Given the description of an element on the screen output the (x, y) to click on. 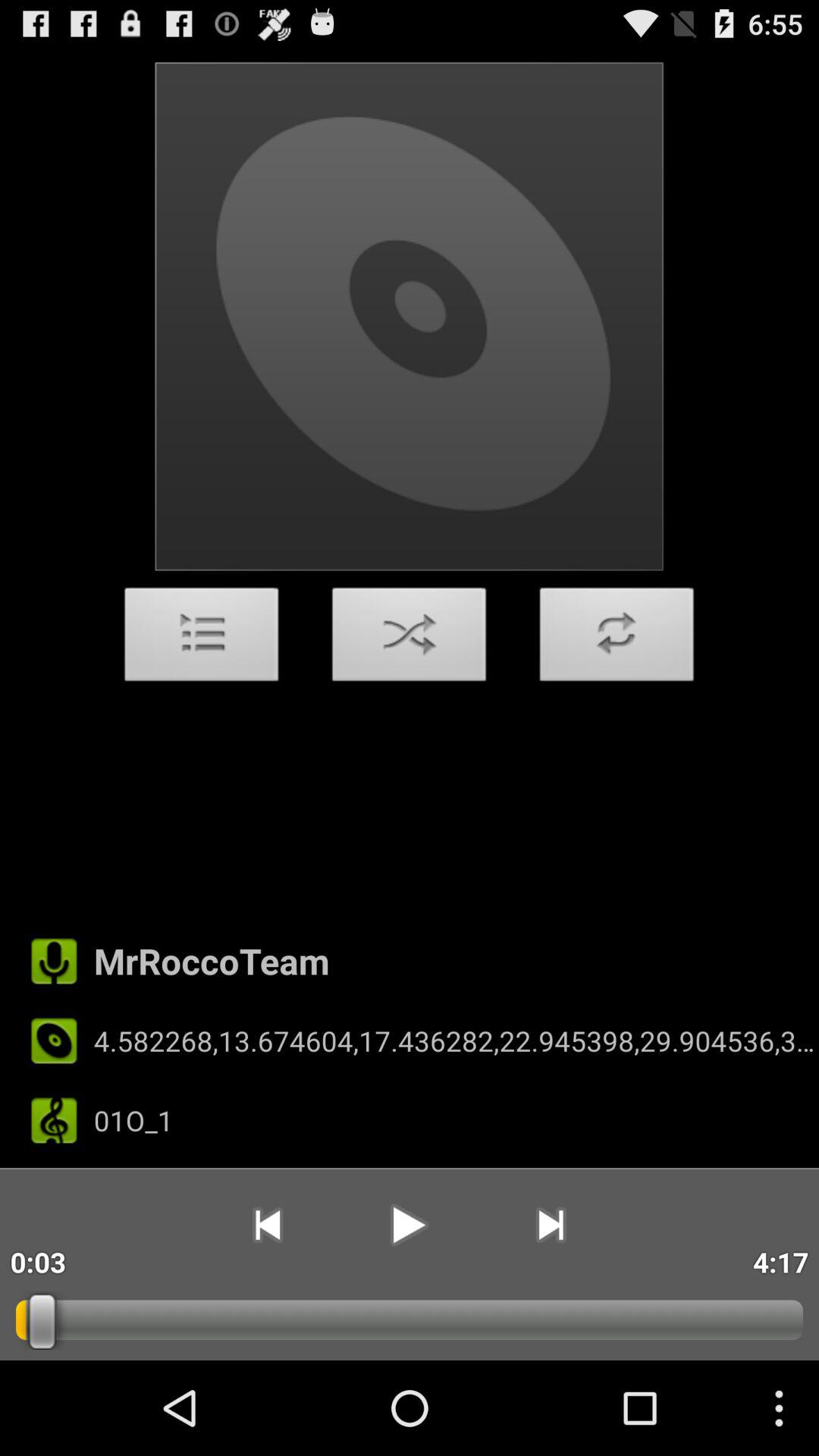
turn on app above the mrroccoteam icon (409, 638)
